Given the description of an element on the screen output the (x, y) to click on. 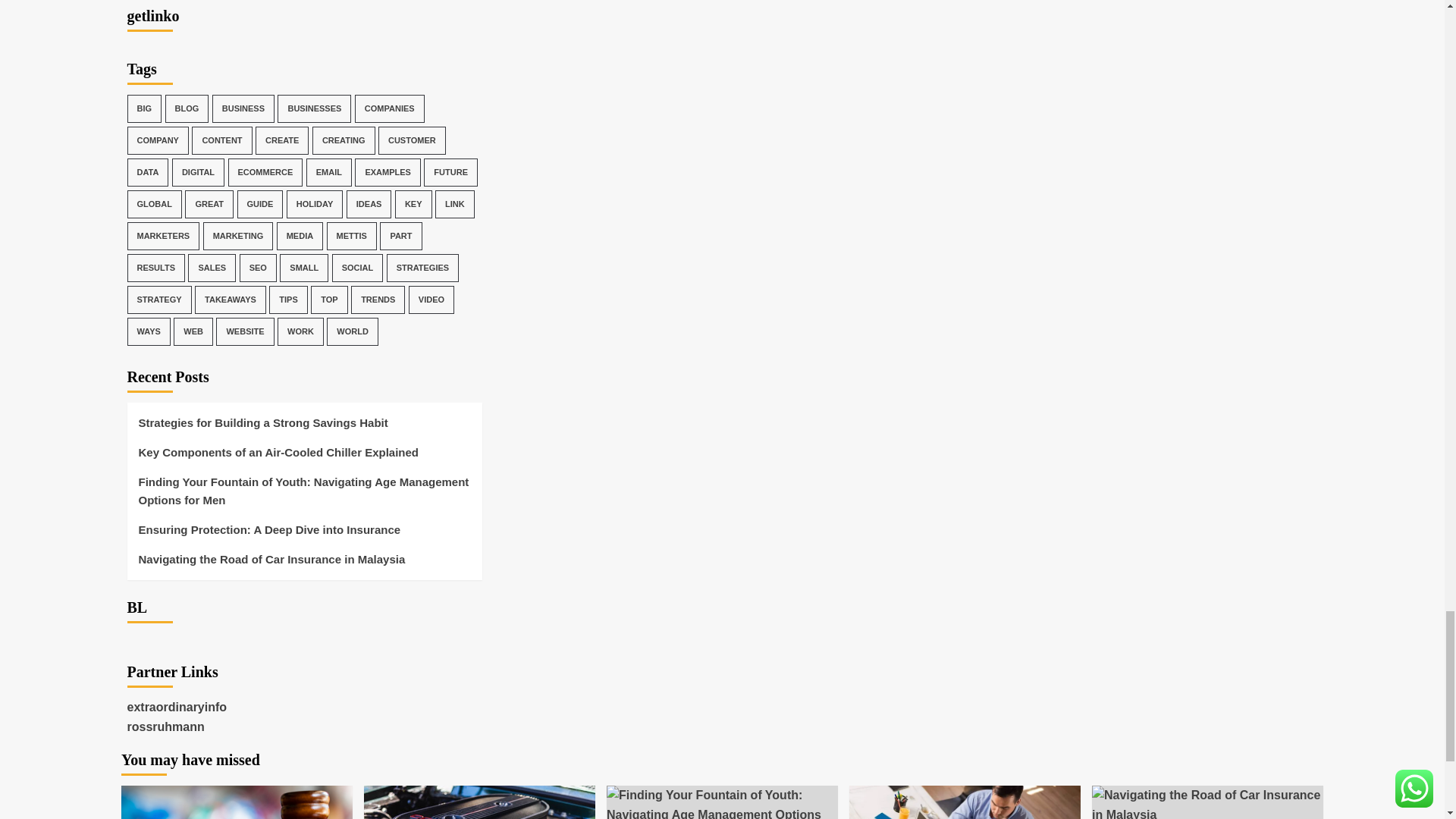
Navigating the Road of Car Insurance in Malaysia (1207, 802)
Key Components of an Air-Cooled Chiller Explained (479, 802)
Strategies for Building a Strong Savings Habit (236, 802)
